Given the description of an element on the screen output the (x, y) to click on. 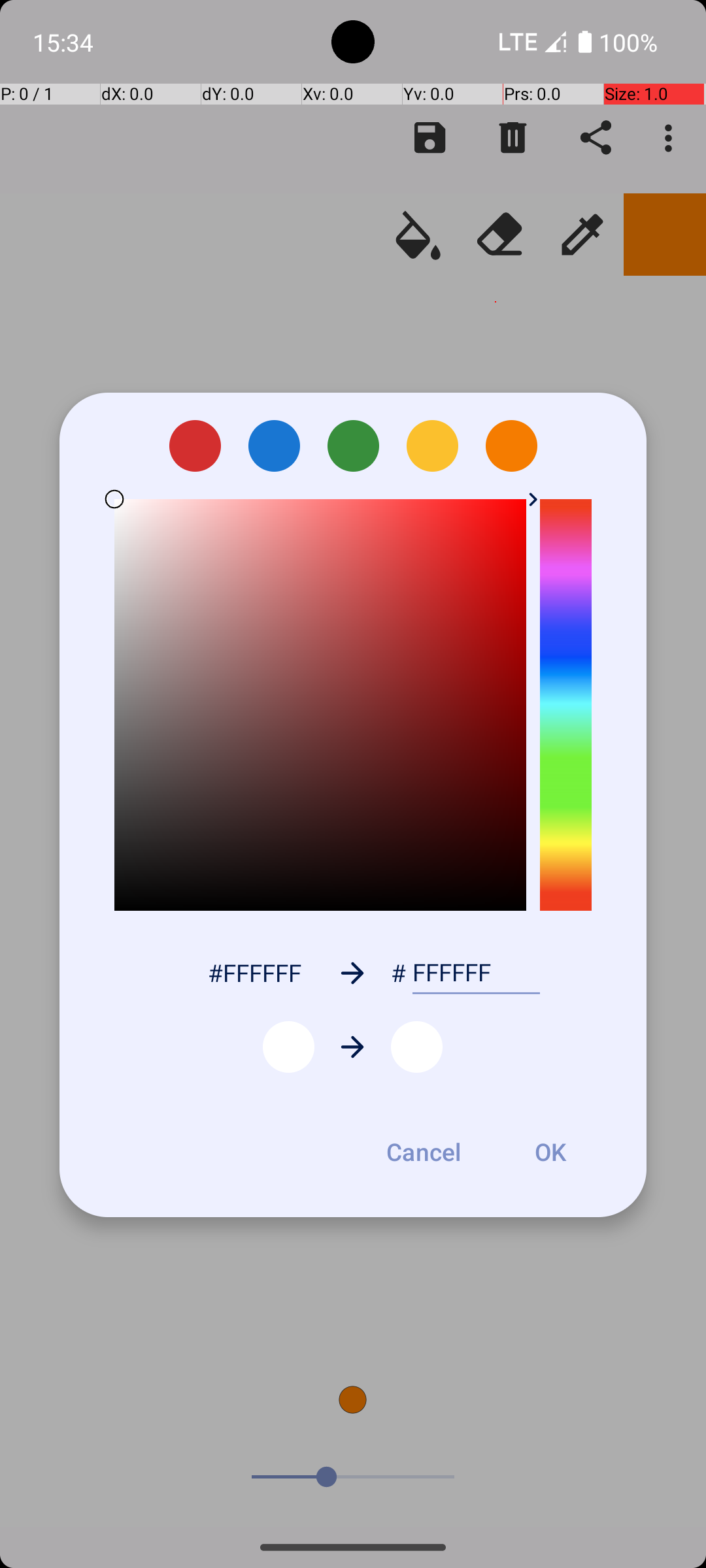
#FFFFFF Element type: android.widget.TextView (254, 972)
FFFFFF Element type: android.widget.EditText (475, 972)
